Given the description of an element on the screen output the (x, y) to click on. 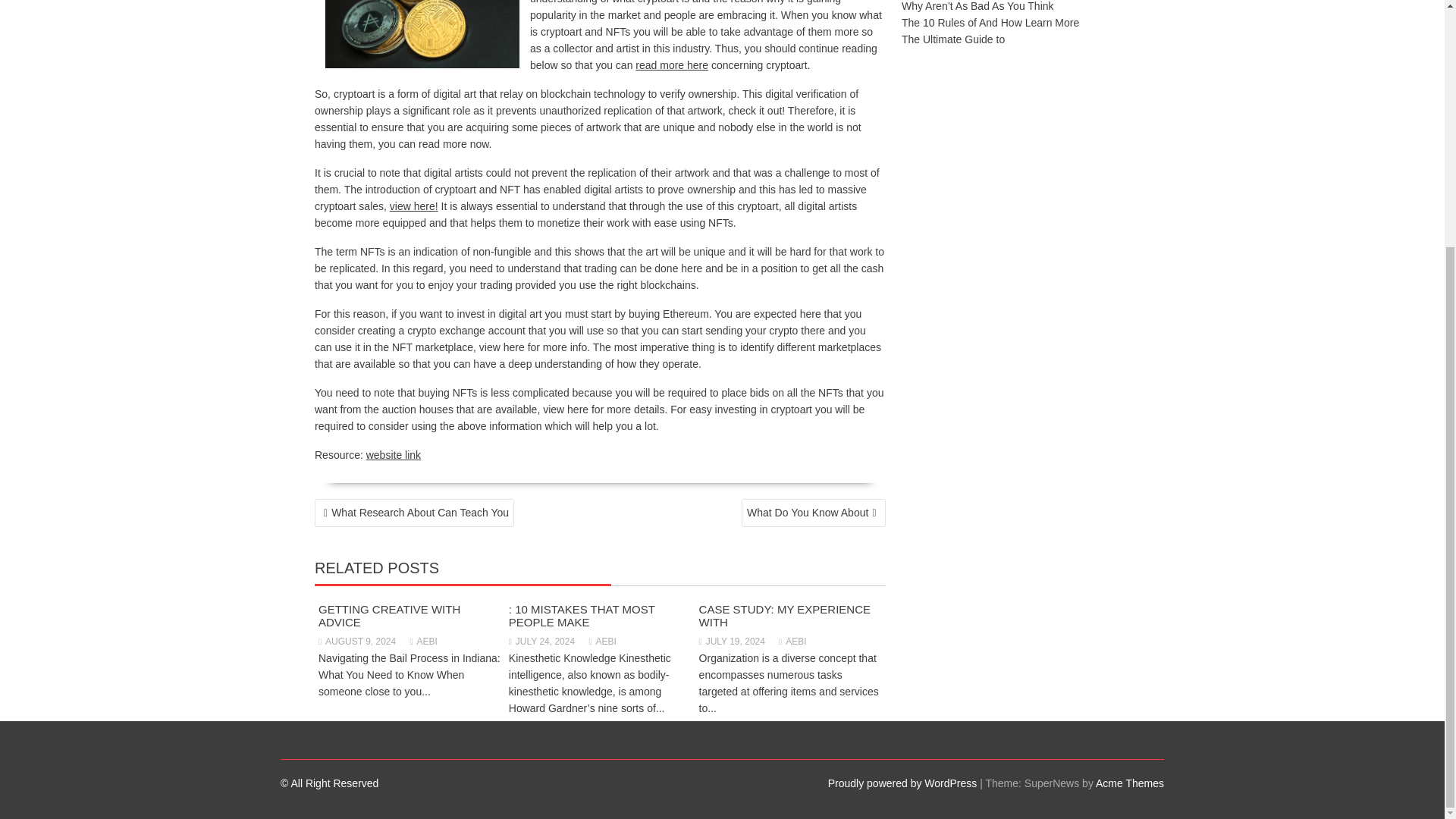
Proudly powered by WordPress (902, 783)
The 10 Rules of And How Learn More (989, 22)
JULY 19, 2024 (731, 641)
view here! (414, 205)
What Research About Can Teach You (413, 512)
JULY 24, 2024 (541, 641)
The Ultimate Guide to (952, 39)
GETTING CREATIVE WITH ADVICE (389, 615)
AEBI (424, 641)
AEBI (601, 641)
